Given the description of an element on the screen output the (x, y) to click on. 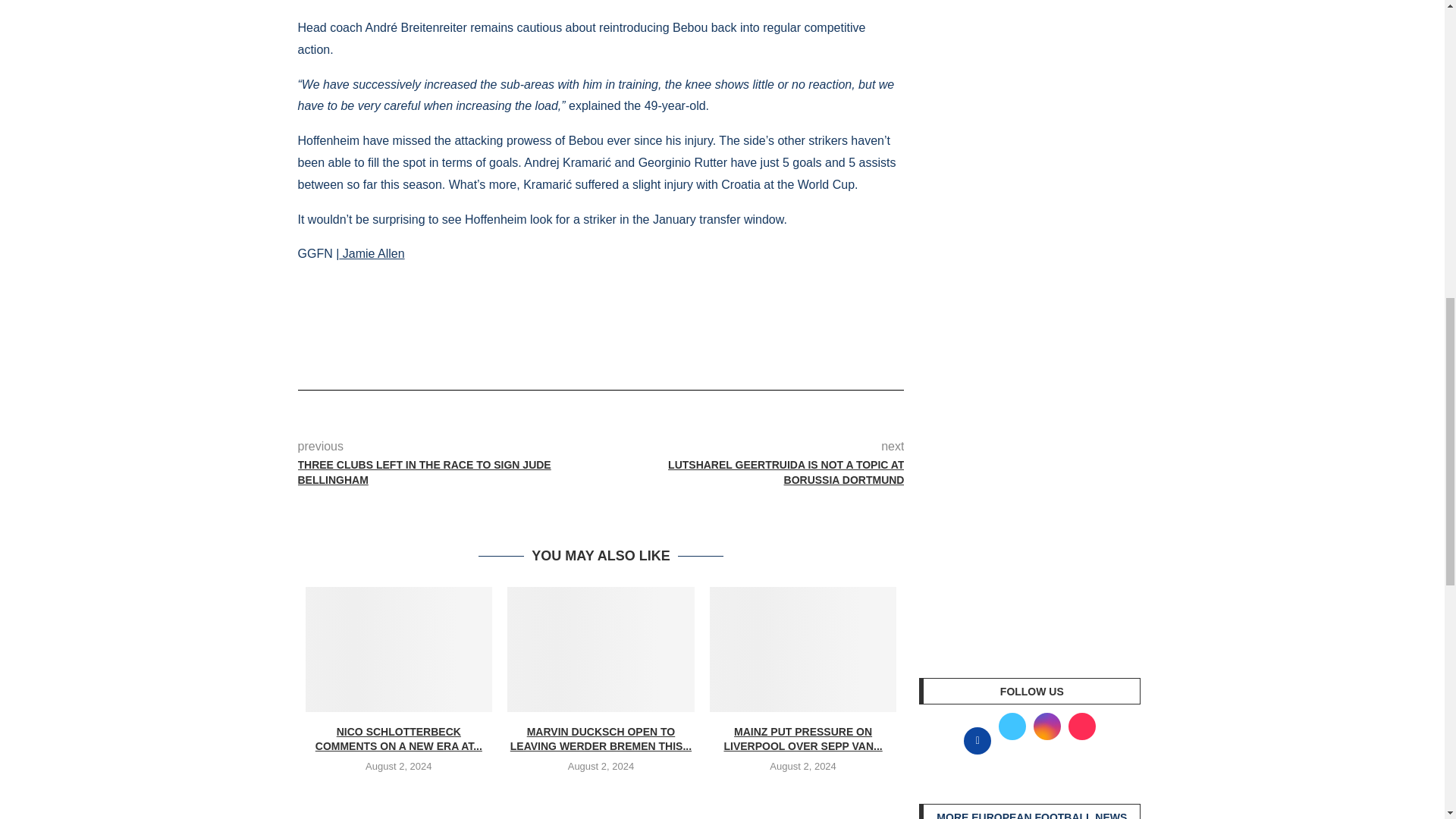
Marvin Ducksch open to leaving Werder Bremen this summer (600, 649)
Mainz put pressure on Liverpool over Sepp van den Berg deal (803, 649)
